Given the description of an element on the screen output the (x, y) to click on. 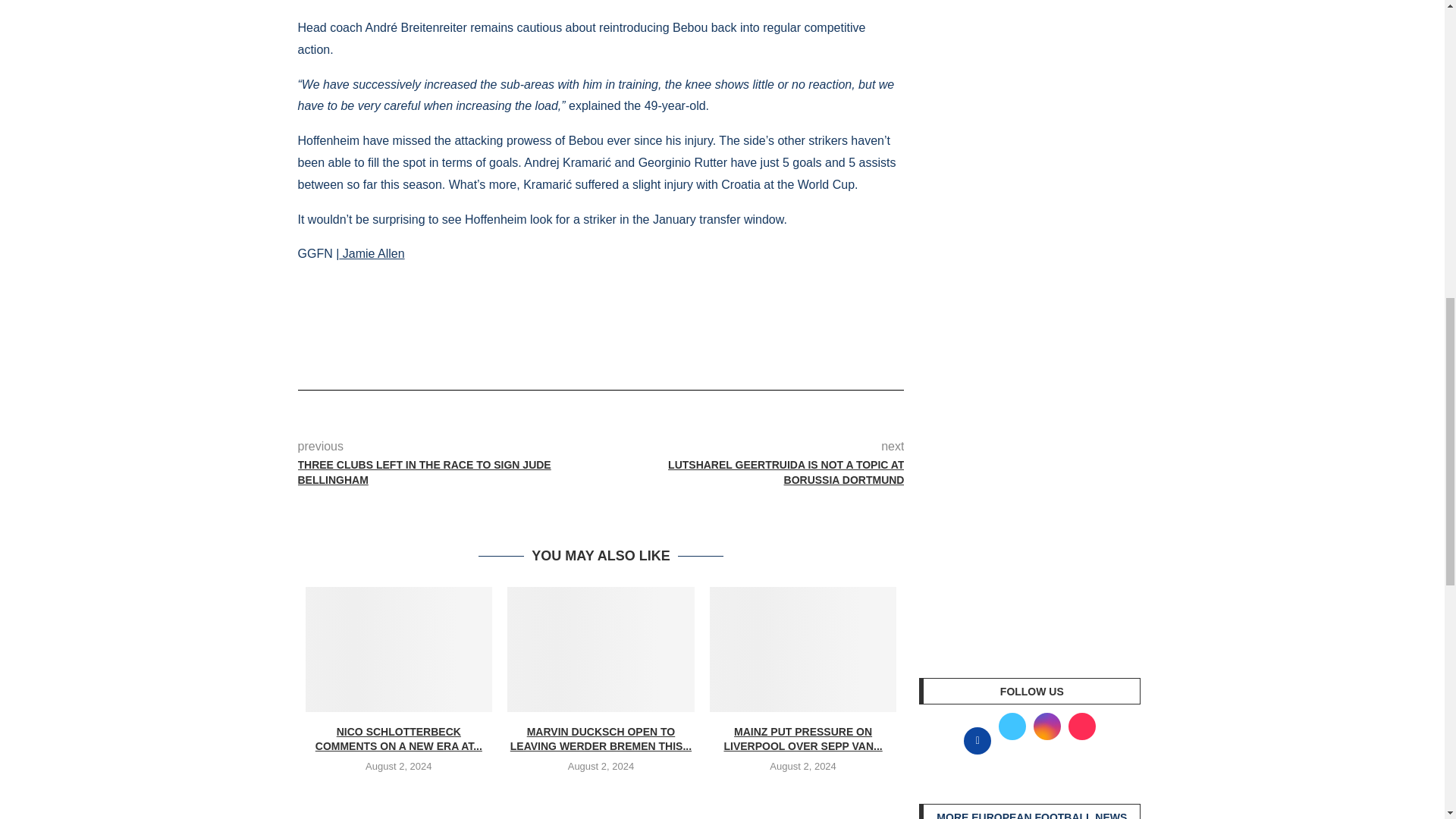
Marvin Ducksch open to leaving Werder Bremen this summer (600, 649)
Mainz put pressure on Liverpool over Sepp van den Berg deal (803, 649)
